Given the description of an element on the screen output the (x, y) to click on. 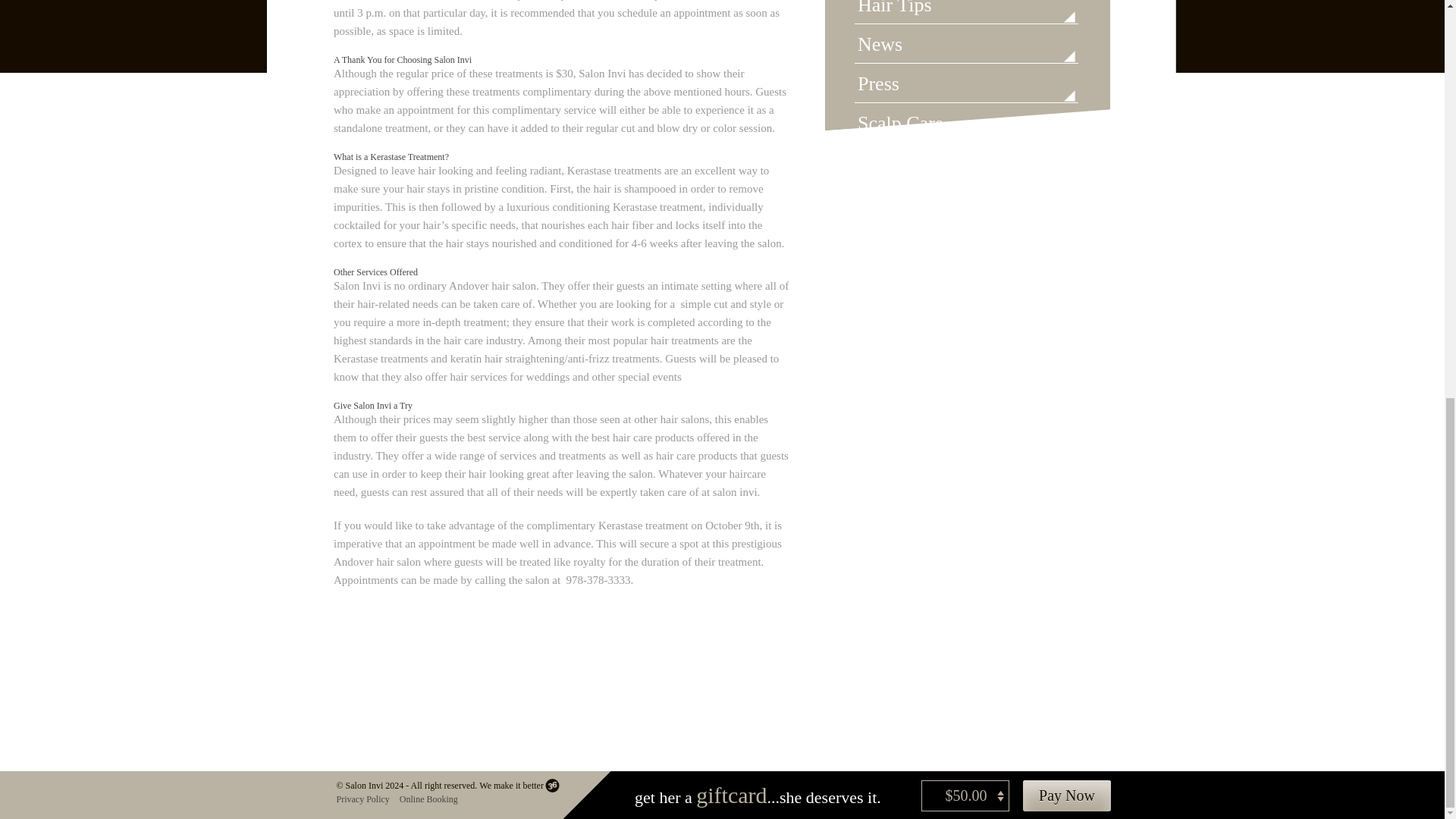
Online Booking (431, 798)
Pay Now (1066, 795)
Privacy Policy (366, 798)
Scalp Care (966, 127)
Press (966, 88)
What's New (966, 246)
Weddings (966, 206)
Hair Tips (966, 12)
Uncategorized (966, 167)
News (966, 49)
We make it better (519, 785)
